Given the description of an element on the screen output the (x, y) to click on. 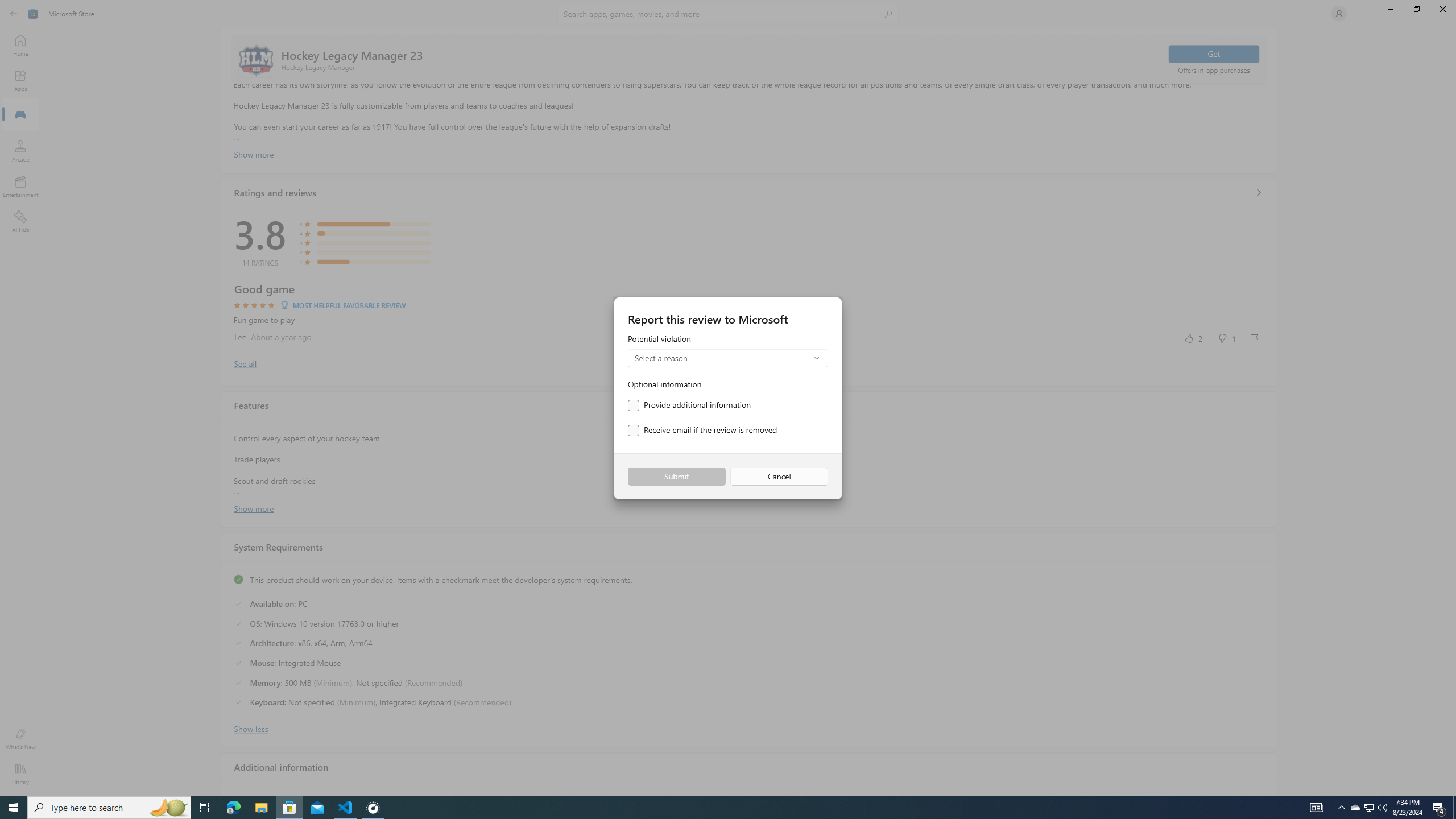
Show more (253, 507)
Provide additional information (689, 405)
Show all ratings and reviews (1258, 192)
Search (727, 13)
Review by Lee. Rated 5 out of five stars. Good game. (748, 313)
Get (1213, 53)
Potential violation (727, 351)
